Given the description of an element on the screen output the (x, y) to click on. 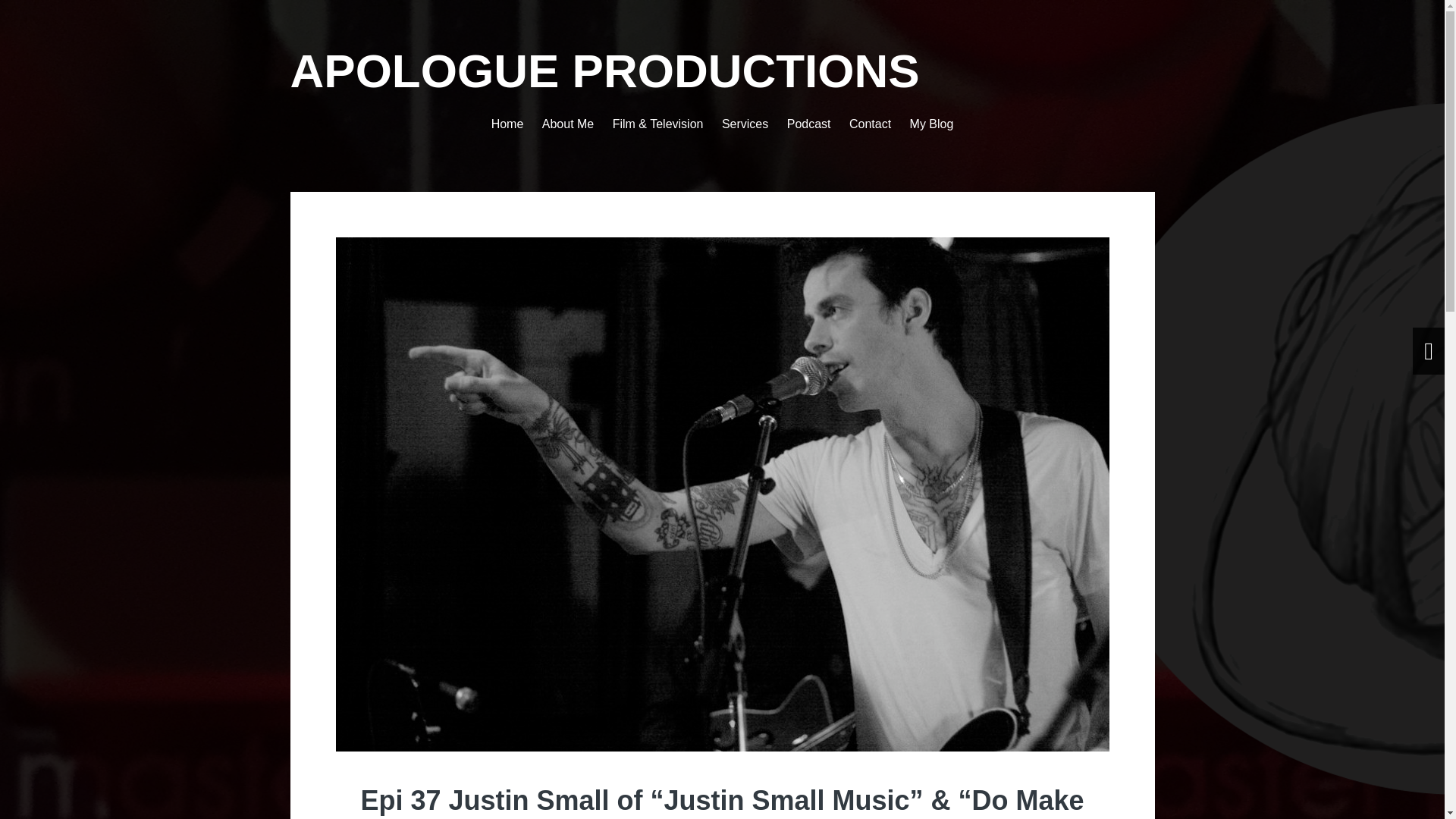
Podcast (809, 124)
About Me (567, 124)
Services (745, 124)
Contact (869, 124)
APOLOGUE PRODUCTIONS (603, 71)
My Blog (931, 124)
Home (508, 124)
